Given the description of an element on the screen output the (x, y) to click on. 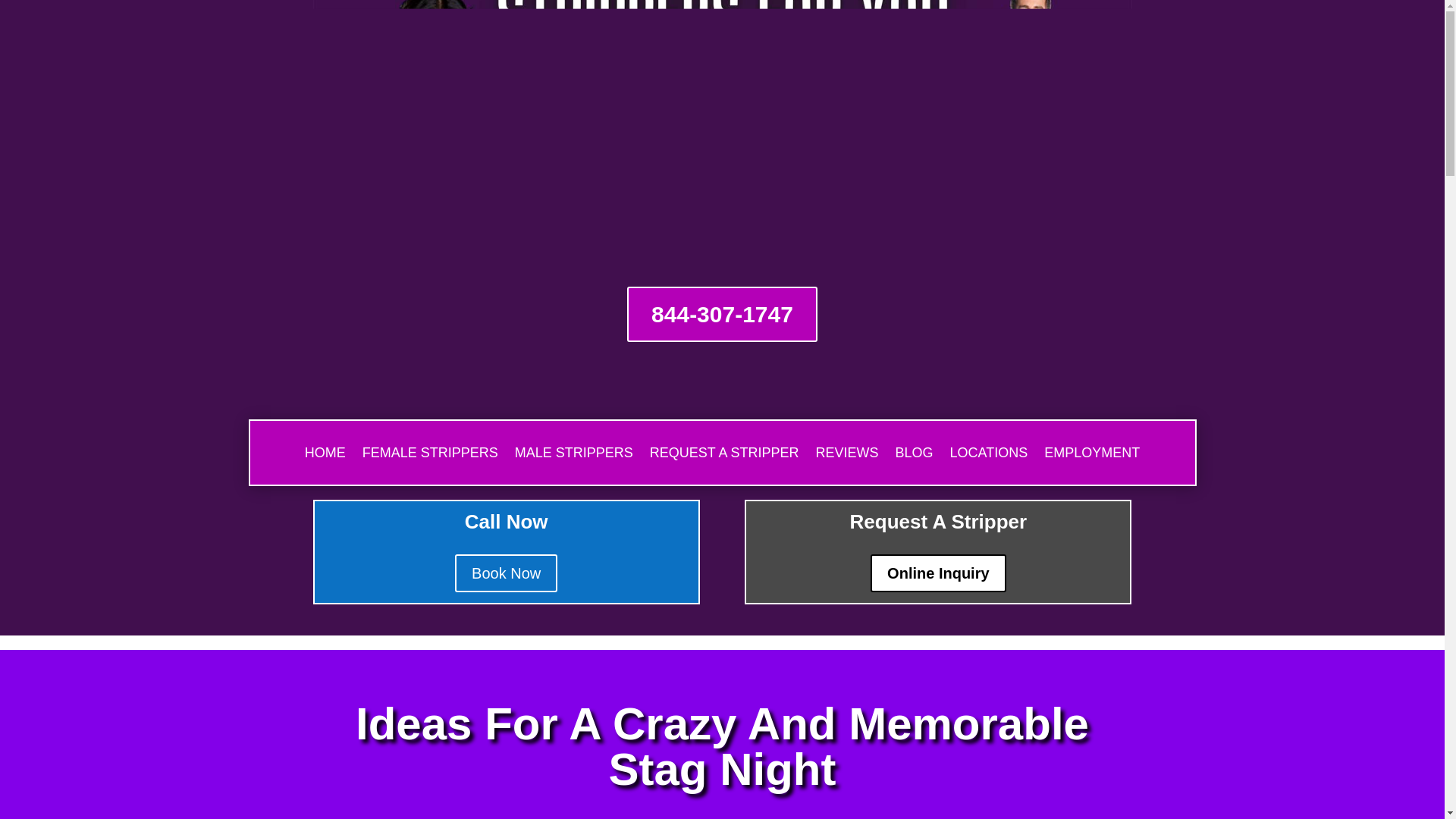
EMPLOYMENT (1091, 455)
844-307-1747 (721, 314)
Book Now (505, 573)
REVIEWS (847, 455)
MALE STRIPPERS (574, 455)
BLOG (914, 455)
FEMALE STRIPPERS (429, 455)
REQUEST A STRIPPER (724, 455)
HOME (325, 455)
LOCATIONS (988, 455)
Online Inquiry (938, 573)
